Given the description of an element on the screen output the (x, y) to click on. 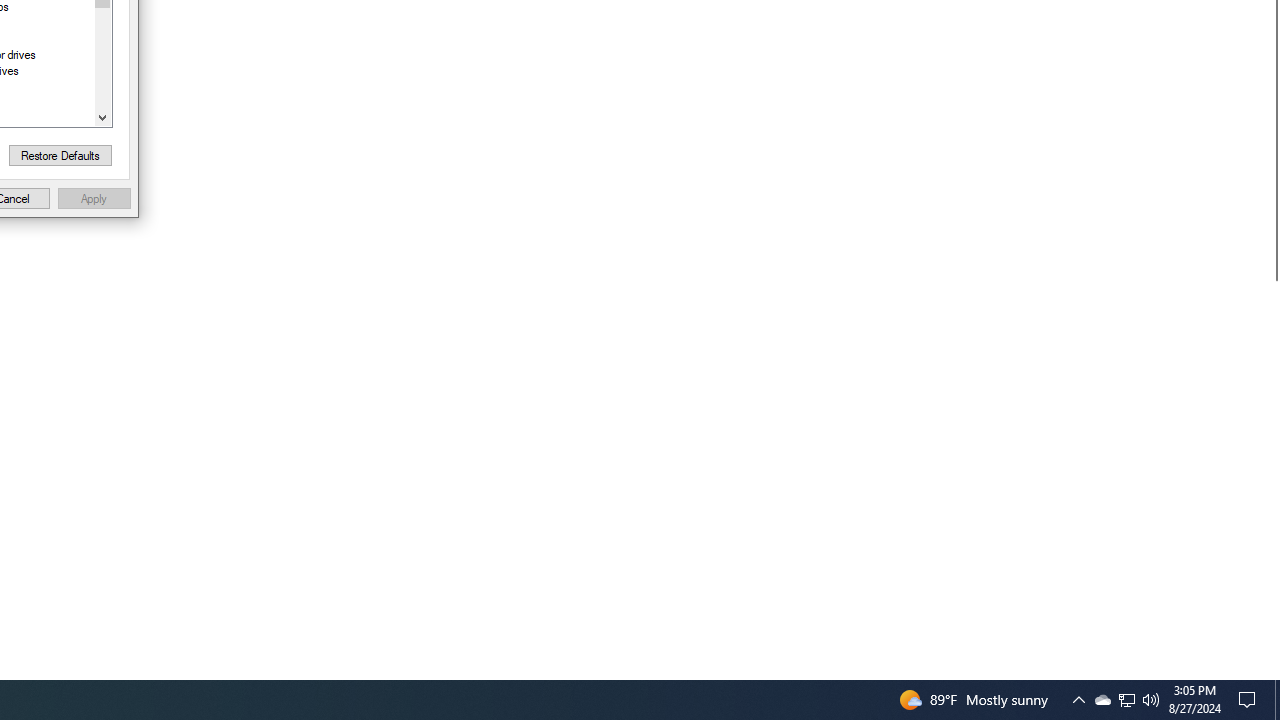
Notification Chevron (1078, 699)
Page down (102, 57)
Q2790: 100% (1151, 699)
Restore Defaults (59, 155)
Line down (102, 116)
Action Center, No new notifications (1102, 699)
Show desktop (1250, 699)
User Promoted Notification Area (1126, 699)
Apply (1277, 699)
